Given the description of an element on the screen output the (x, y) to click on. 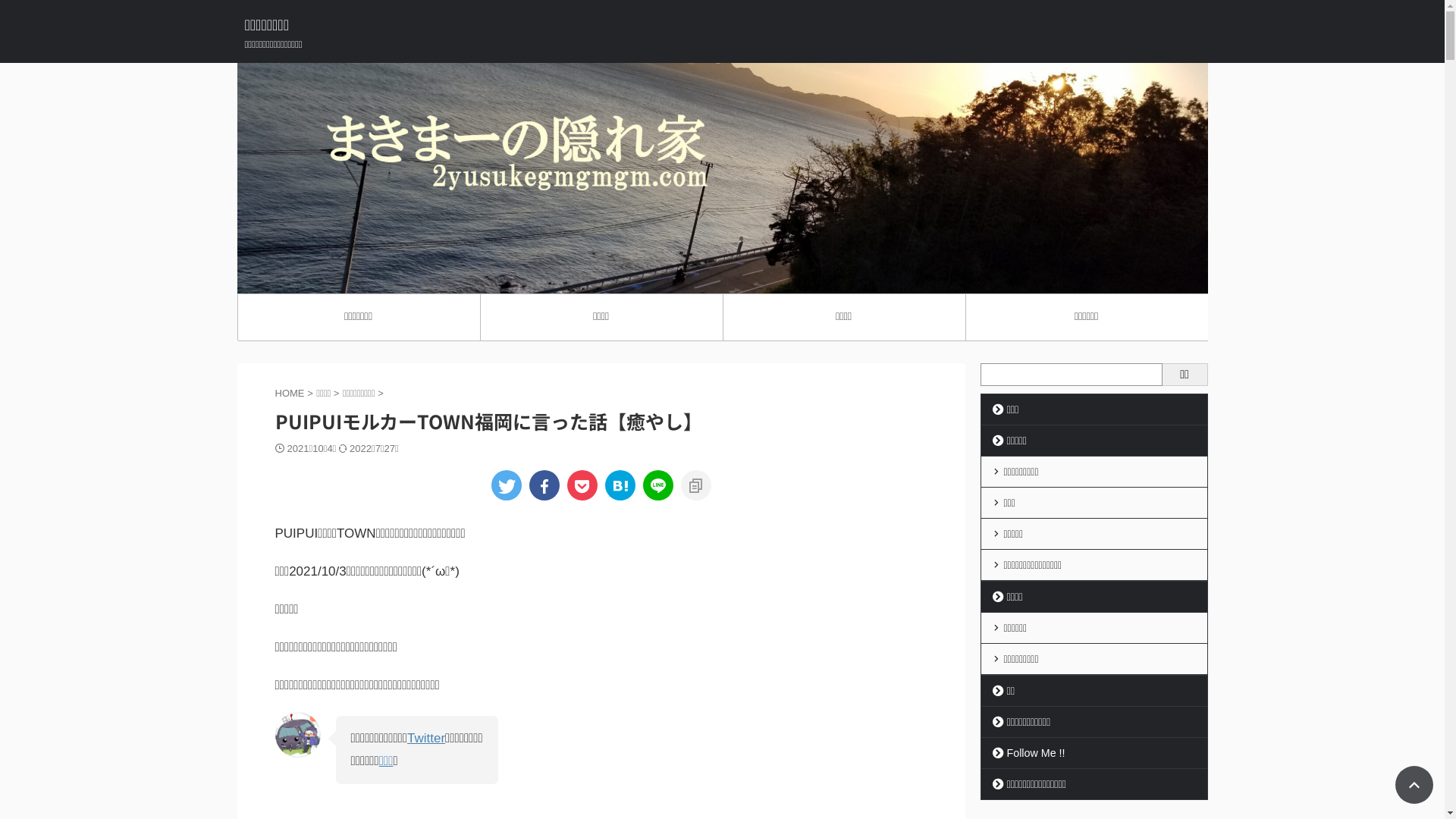
HOME Element type: text (290, 392)
Twitter Element type: text (426, 738)
Follow Me !! Element type: text (1094, 752)
